Given the description of an element on the screen output the (x, y) to click on. 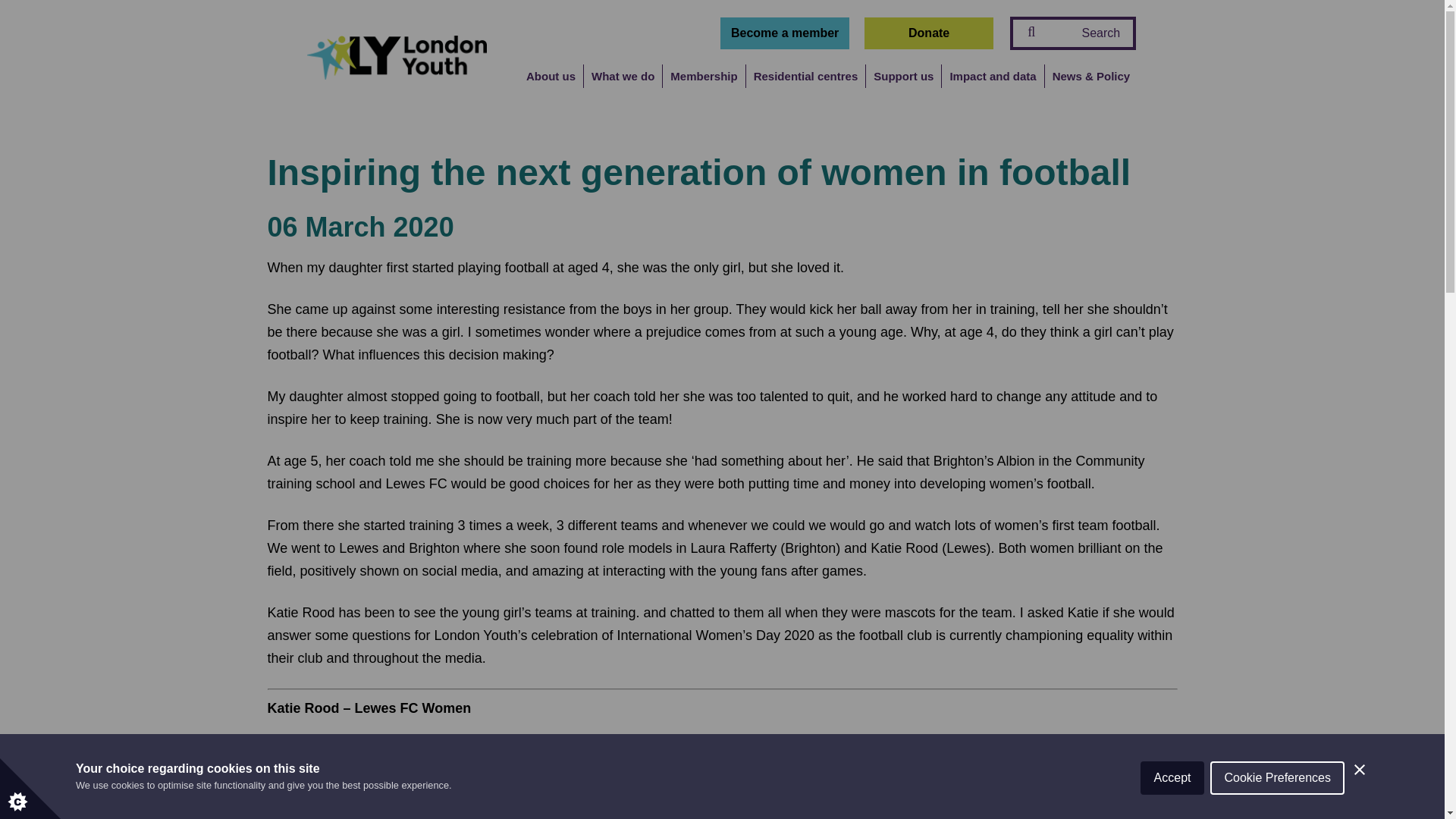
Accept (1172, 783)
London Youth (396, 56)
Donate (928, 33)
Membership (702, 87)
Search (41, 18)
Cookie Preferences (1276, 780)
About us (550, 87)
Residential centres (806, 87)
Support us (903, 87)
Become a member (784, 33)
Impact and data (992, 87)
What we do (622, 87)
